Given the description of an element on the screen output the (x, y) to click on. 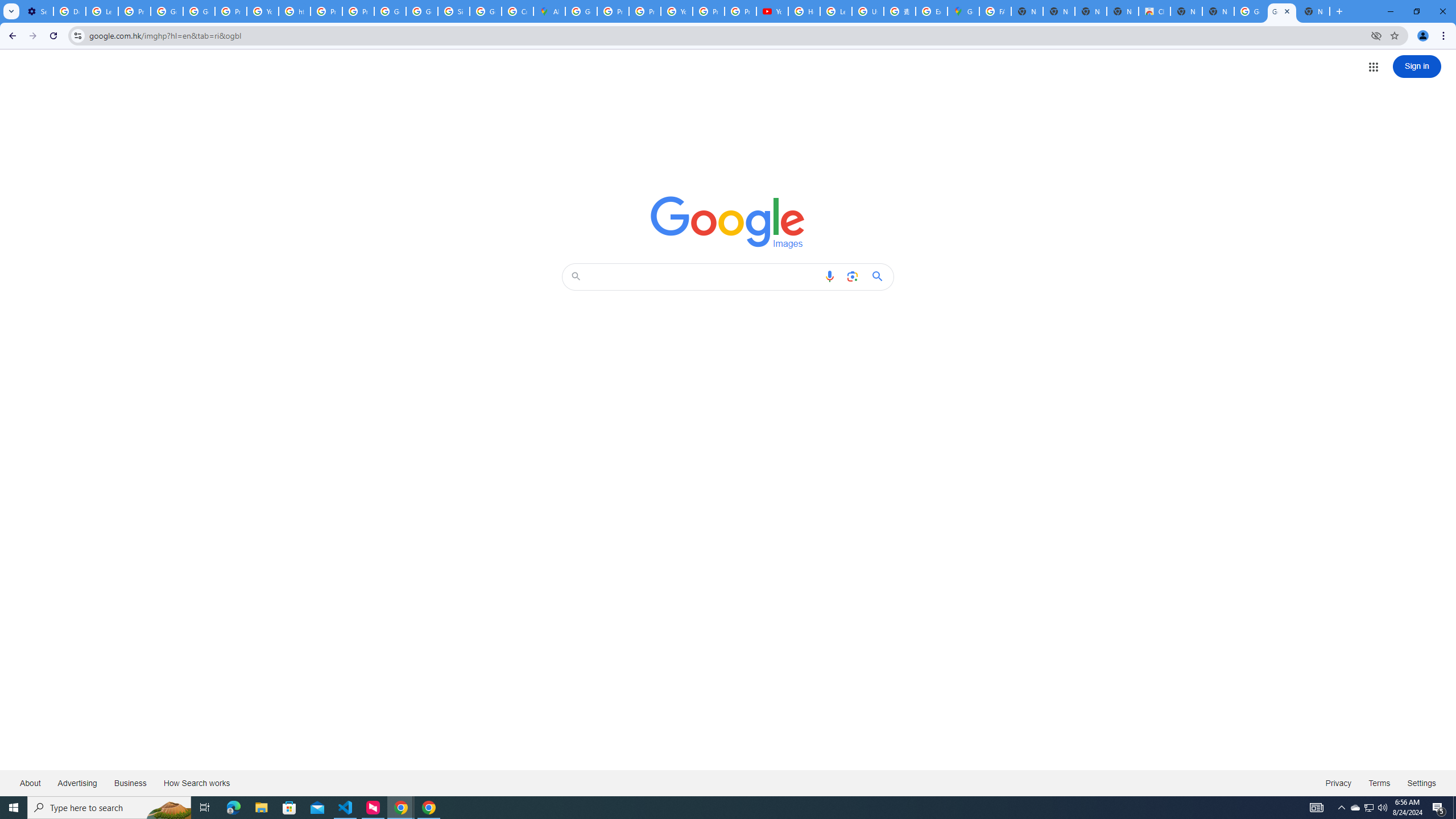
Sign in (1417, 65)
Chrome Web Store (1154, 11)
https://scholar.google.com/ (294, 11)
YouTube (262, 11)
Explore new street-level details - Google Maps Help (931, 11)
New Tab (1217, 11)
Google Images (1249, 11)
Search by voice (829, 276)
